Given the description of an element on the screen output the (x, y) to click on. 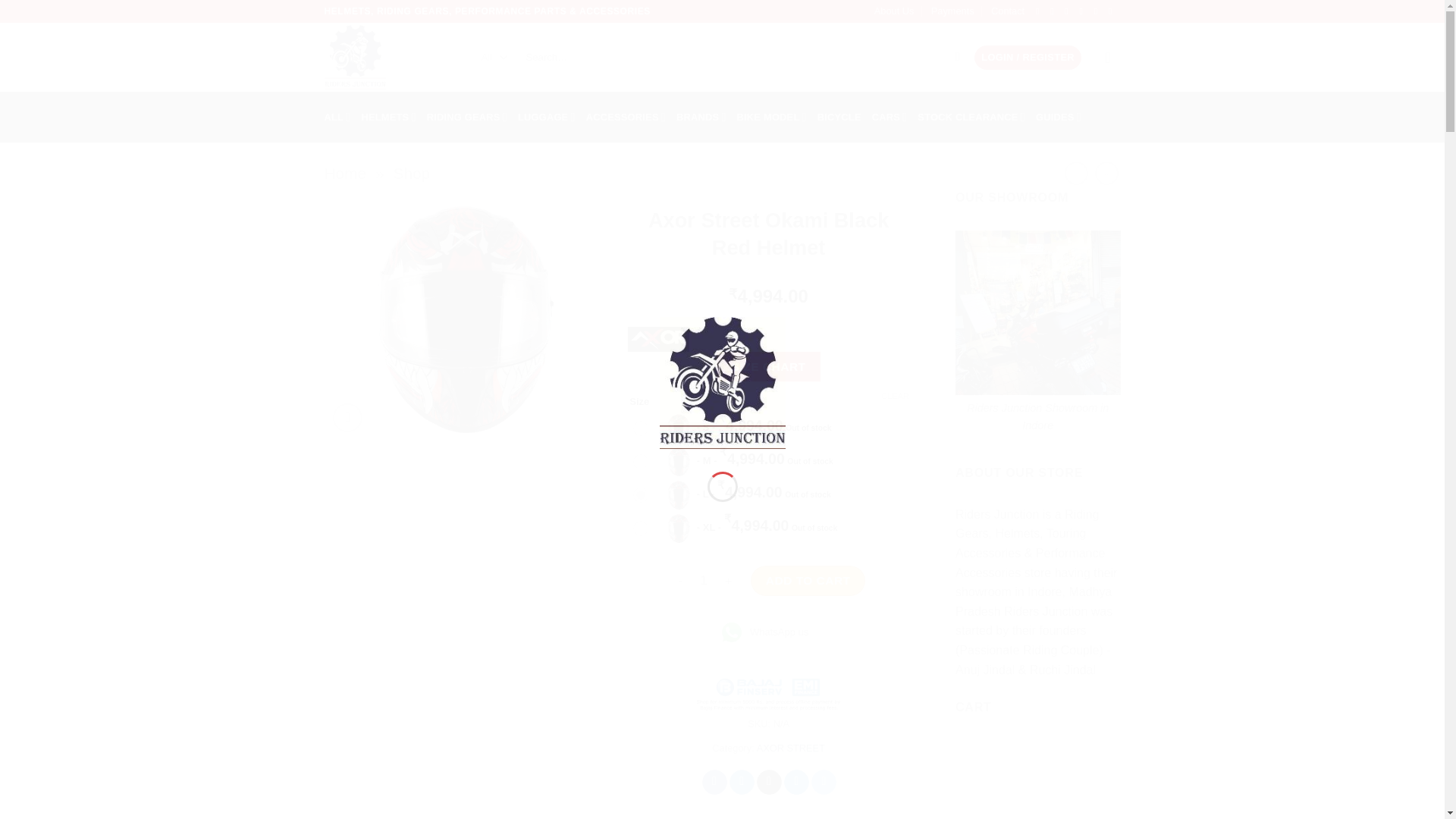
Login (1027, 57)
l (640, 494)
Search (957, 57)
Contact (1008, 11)
About Us (894, 11)
s (640, 427)
m (640, 461)
HELMETS (387, 116)
xl (640, 528)
1 (703, 580)
